Given the description of an element on the screen output the (x, y) to click on. 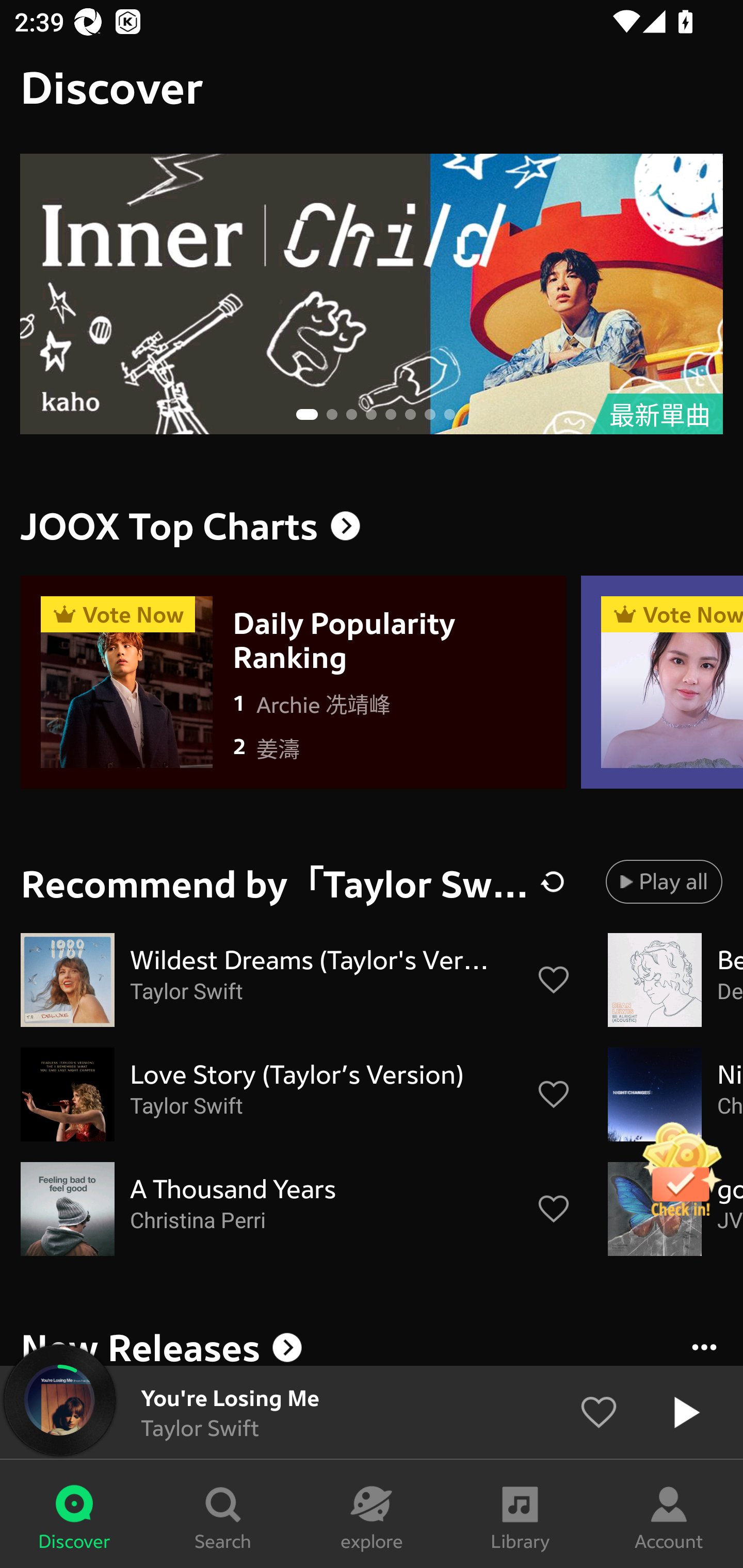
最新單曲   (371, 293)
JOOX Top Charts (371, 525)
Play all (663, 881)
Wildest Dreams (Taylor's Version) Taylor Swift (295, 979)
Love Story (Taylor’s Version) Taylor Swift (295, 1094)
A Thousand Years Christina Perri (295, 1208)
You're Losing Me Taylor Swift (371, 1412)
Search (222, 1513)
explore (371, 1513)
Library (519, 1513)
Account (668, 1513)
